Given the description of an element on the screen output the (x, y) to click on. 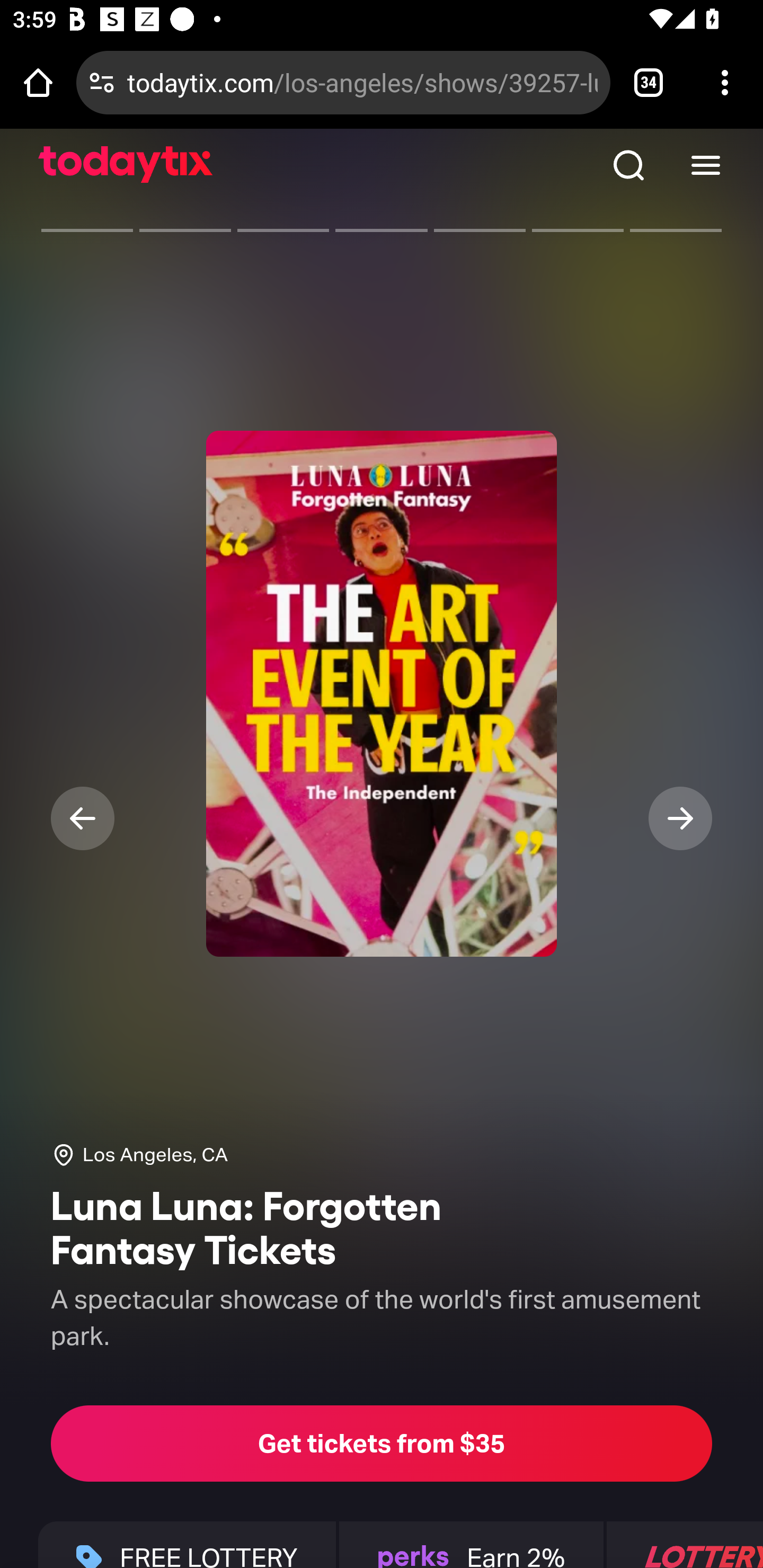
Open the home page (38, 82)
Connection is secure (101, 82)
Switch or close tabs (648, 82)
Customize and control Google Chrome (724, 82)
